Given the description of an element on the screen output the (x, y) to click on. 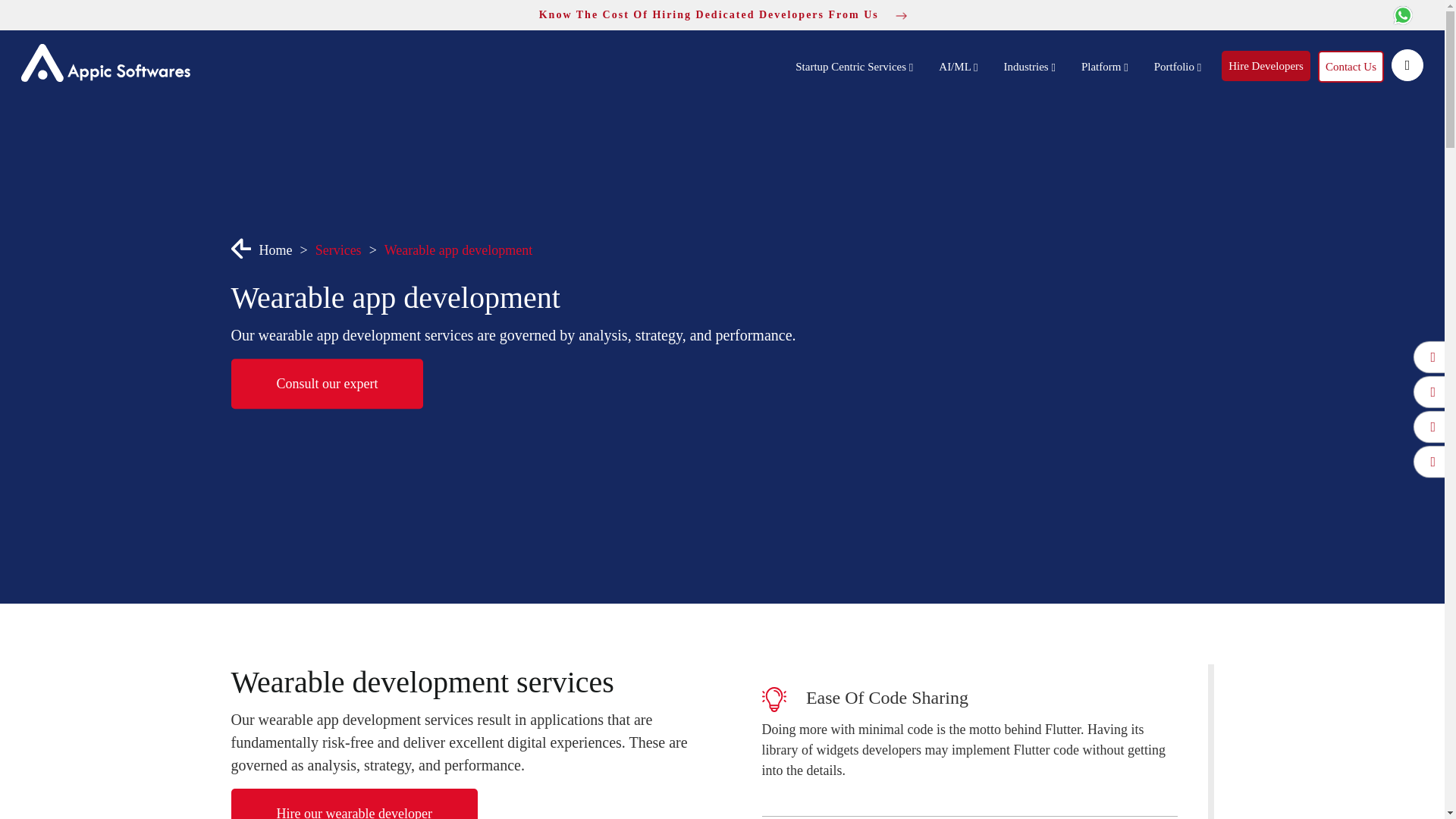
Know The Cost Of Hiring Dedicated Developers From Us (721, 14)
Startup Centric Services (853, 66)
Back (240, 246)
Industries (1028, 66)
